Given the description of an element on the screen output the (x, y) to click on. 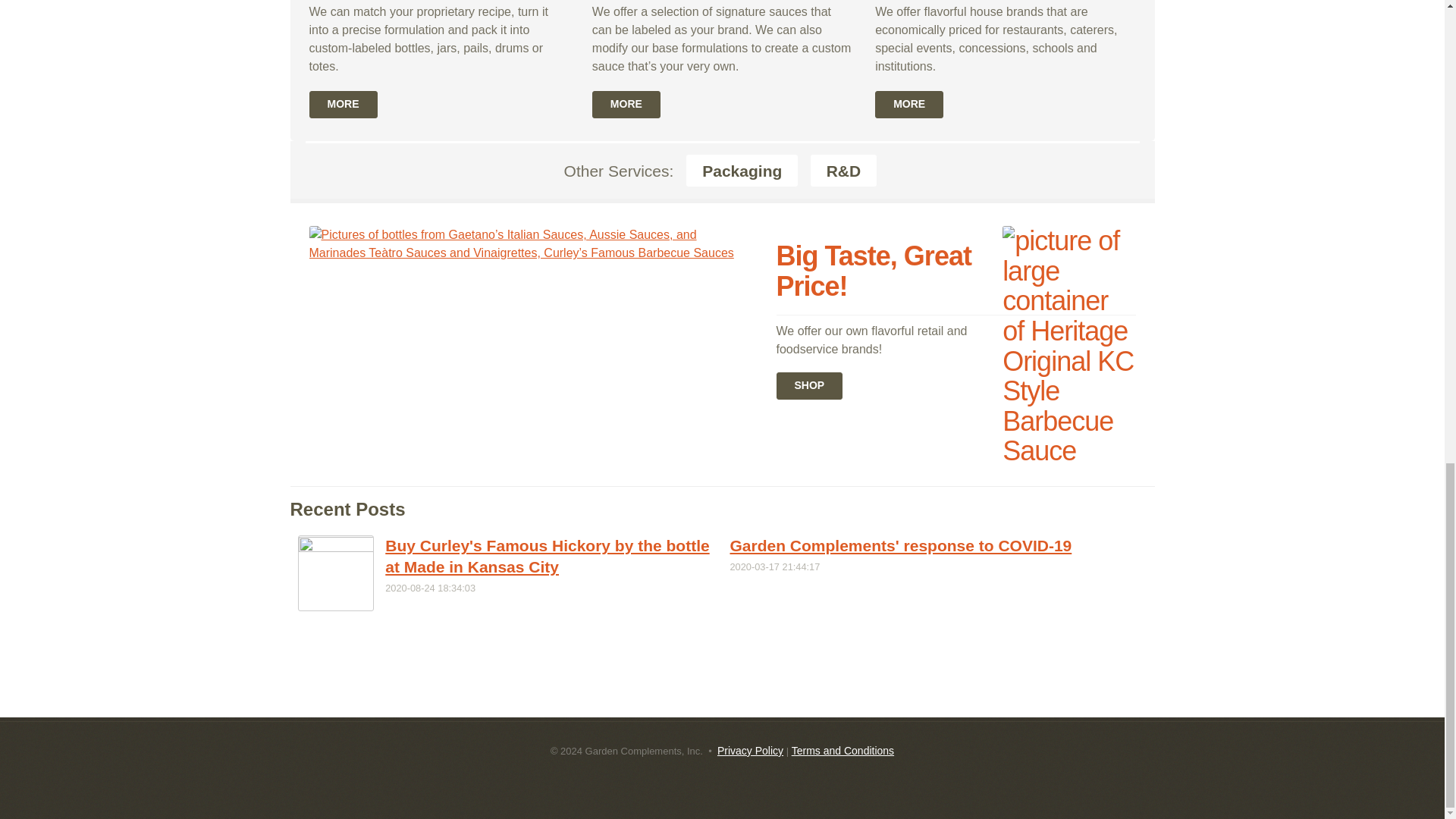
MORE (909, 103)
MORE (342, 103)
MORE (626, 103)
